Given the description of an element on the screen output the (x, y) to click on. 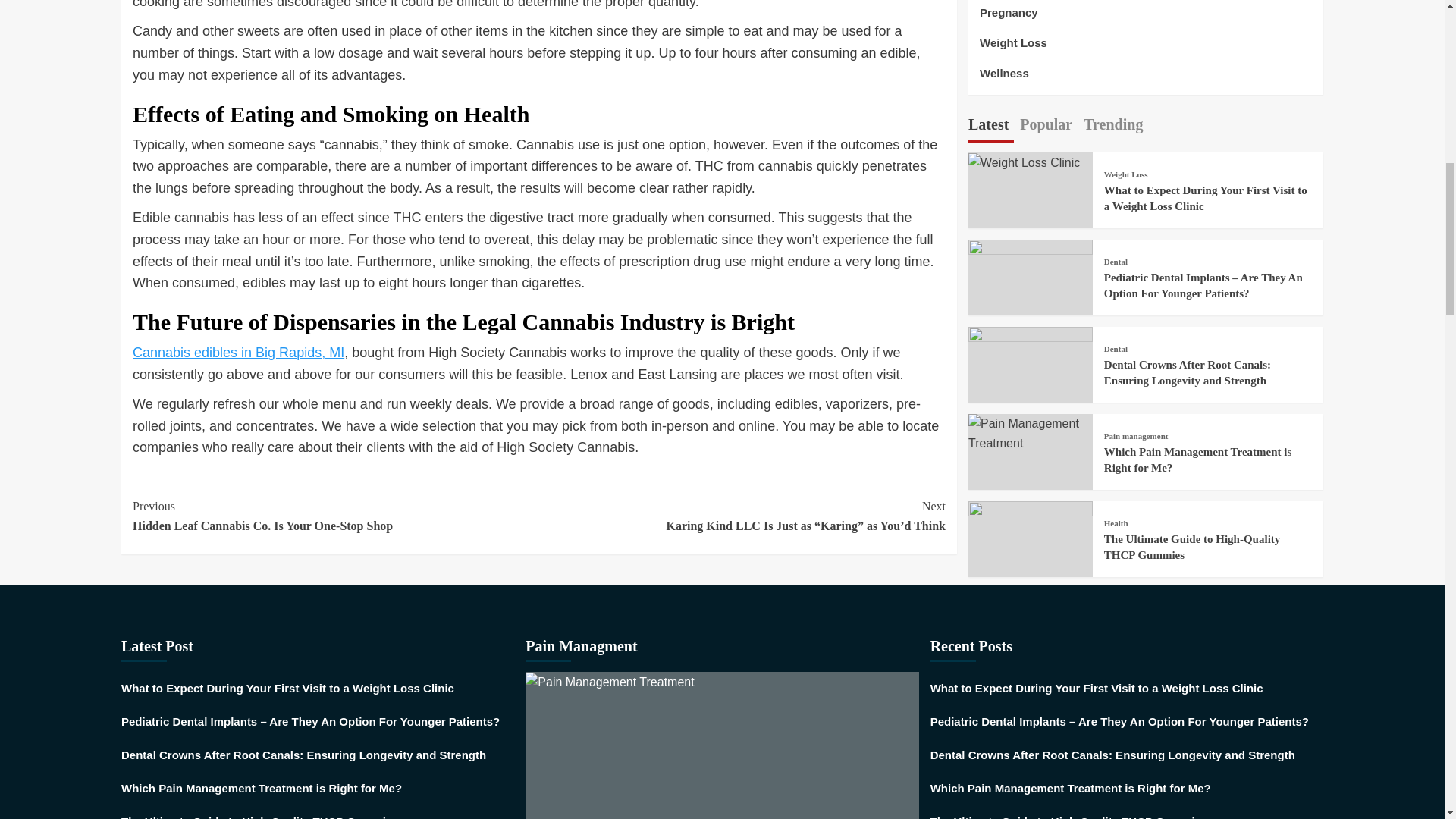
Cannabis edibles in Big Rapids, MI (335, 515)
